Given the description of an element on the screen output the (x, y) to click on. 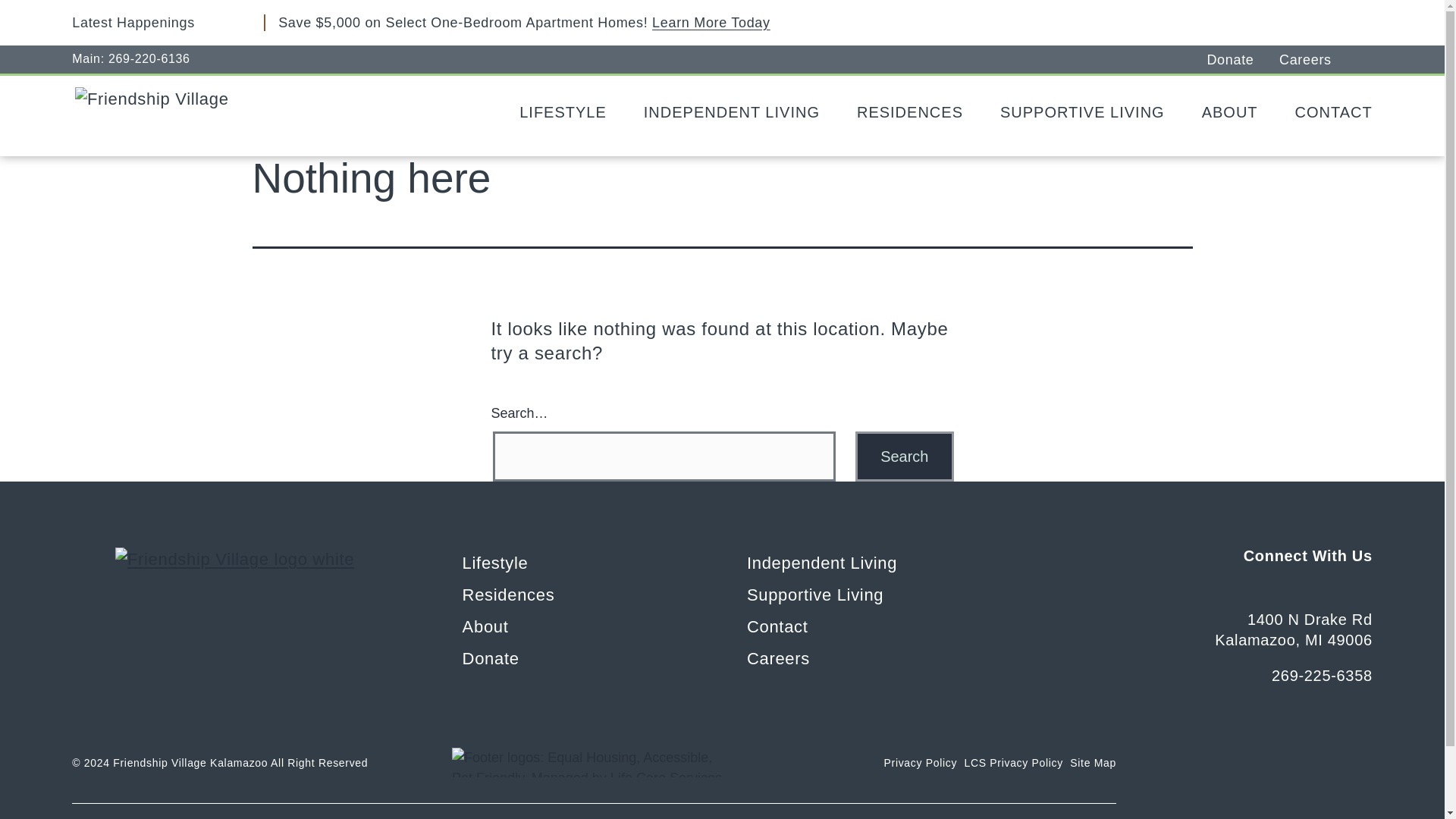
RESIDENCES (904, 112)
Donate (1243, 58)
CONTACT (1327, 112)
Search (904, 456)
SUPPORTIVE LIVING (1077, 112)
Search (904, 456)
LIFESTYLE (558, 112)
Learn More Today (711, 22)
ABOUT (1224, 112)
Main: 269-220-6136 (130, 55)
